Given the description of an element on the screen output the (x, y) to click on. 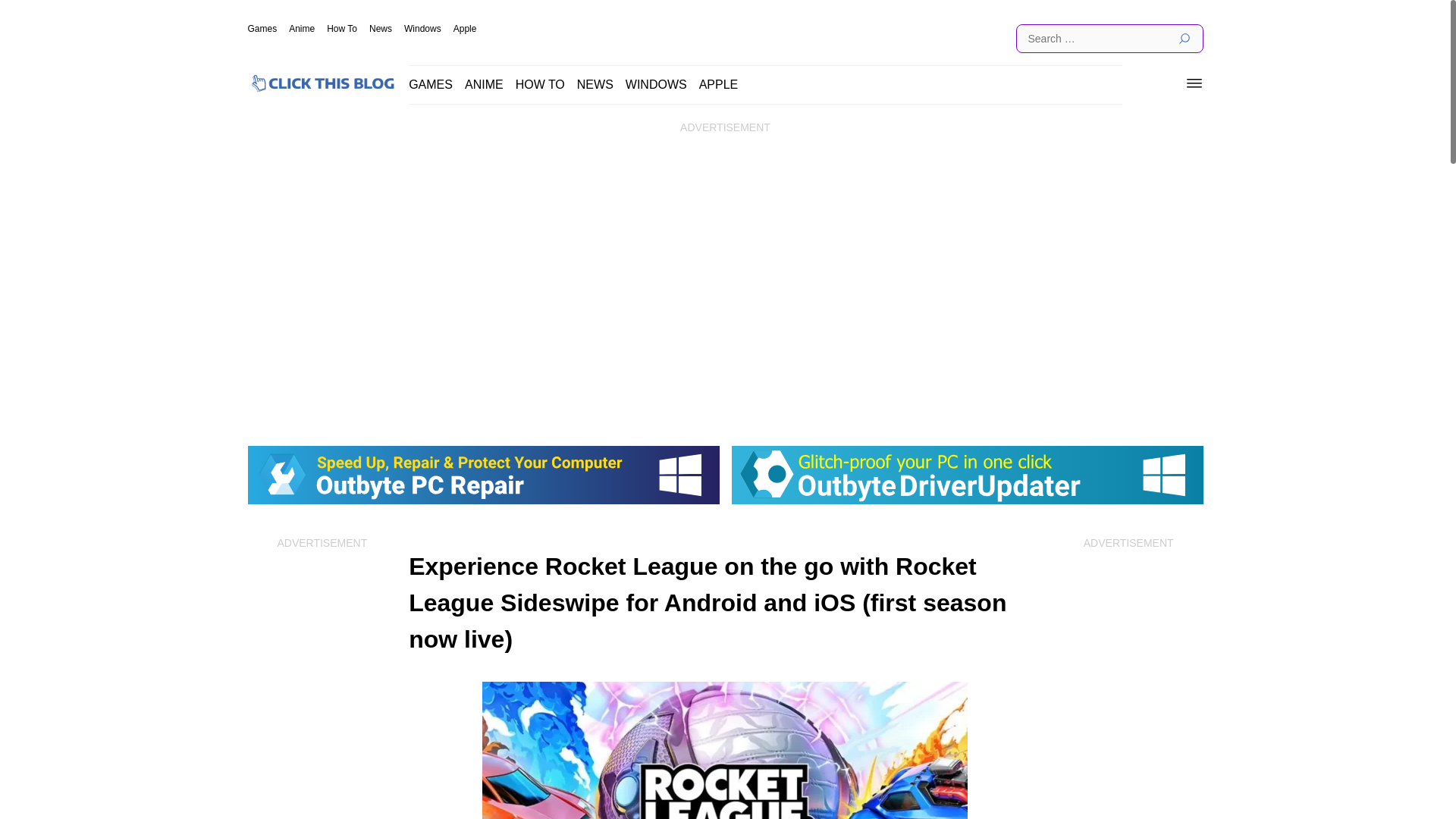
Windows (422, 28)
WINDOWS (656, 83)
How To (341, 28)
Games (261, 28)
NEWS (594, 83)
GAMES (430, 83)
ANIME (483, 83)
APPLE (718, 83)
HOW TO (539, 83)
News (380, 28)
